Given the description of an element on the screen output the (x, y) to click on. 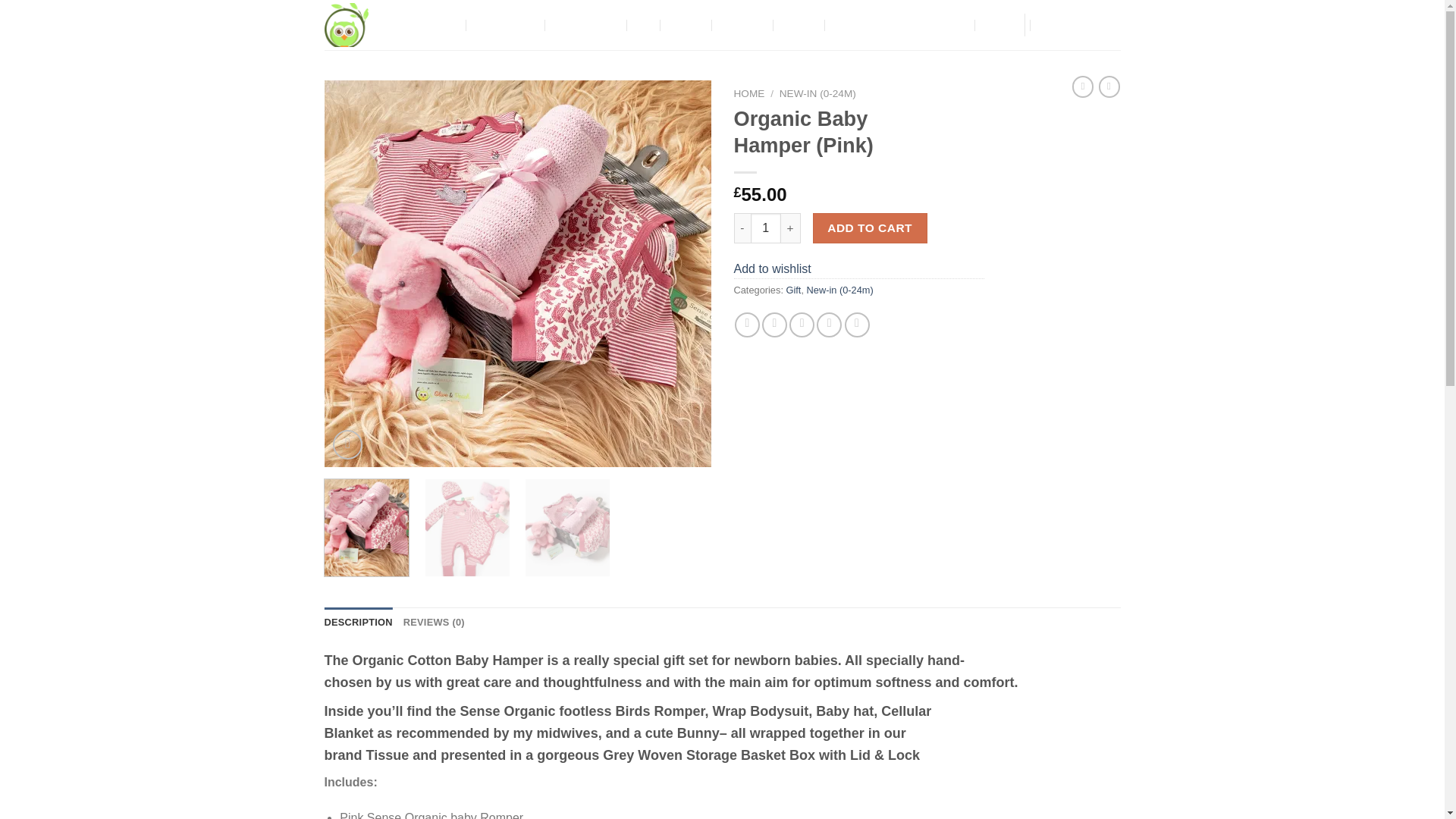
Email to a Friend (801, 324)
Share on Twitter (774, 324)
Share on LinkedIn (856, 324)
Pin on Pinterest (828, 324)
Share on Facebook (747, 324)
Cart (1079, 24)
- (742, 227)
1 (765, 227)
Login (997, 24)
Zoom (347, 444)
